Given the description of an element on the screen output the (x, y) to click on. 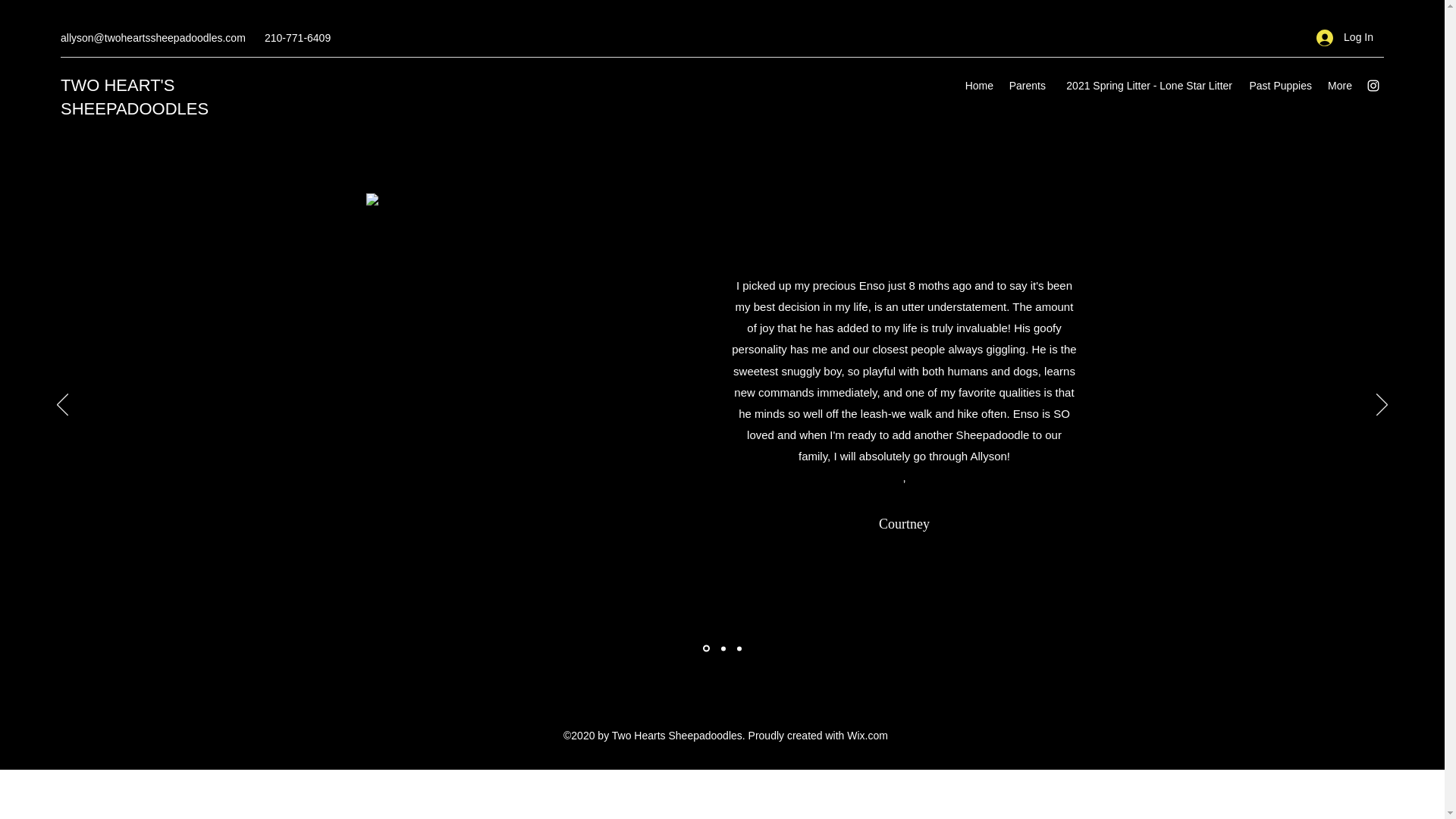
Home (978, 85)
Log In (1345, 37)
Parents (1026, 85)
2021 Spring Litter - Lone Star Litter (1146, 85)
TWO HEART'S SHEEPADOODLES (134, 96)
